Given the description of an element on the screen output the (x, y) to click on. 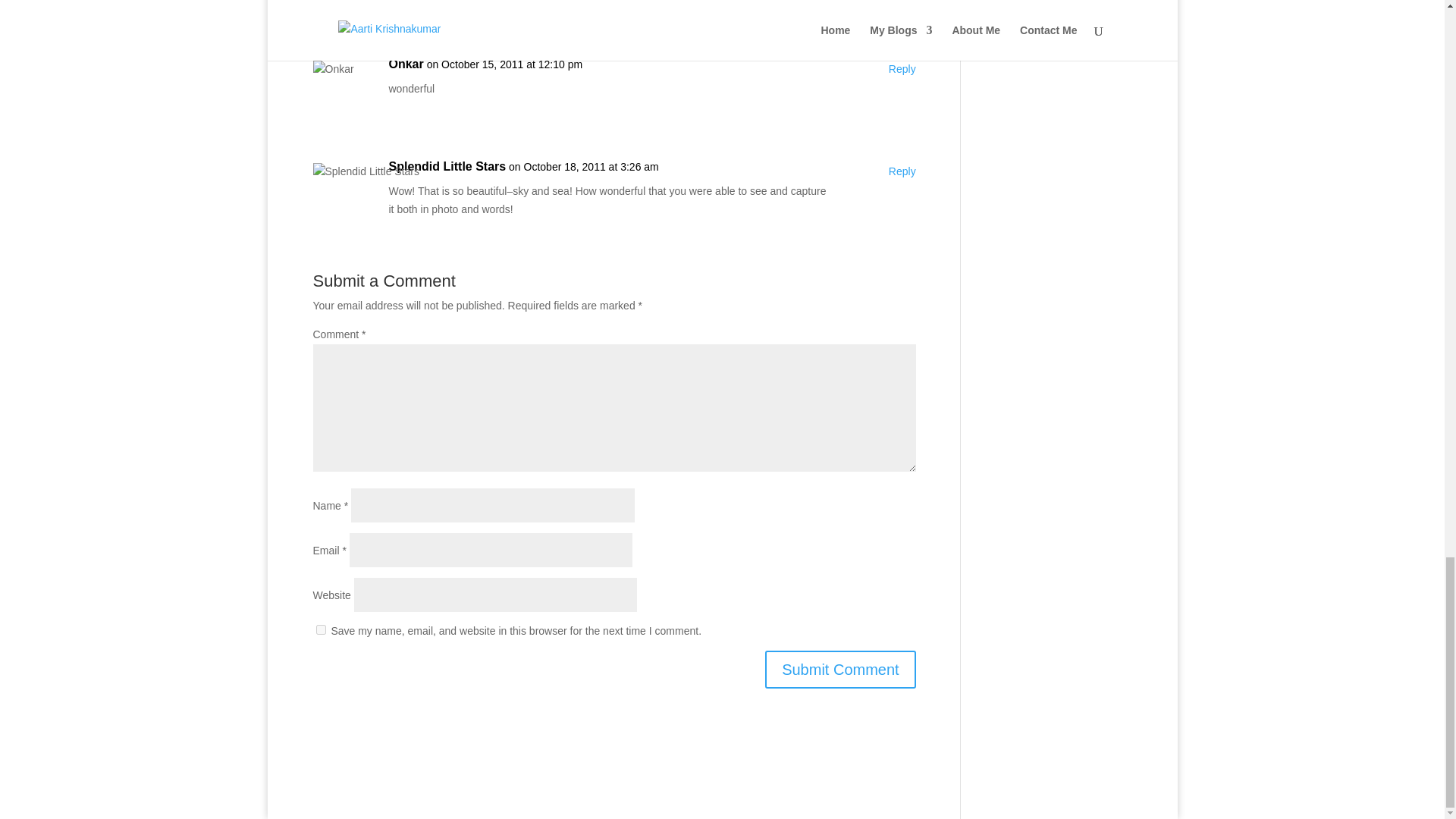
Splendid Little Stars (446, 167)
Submit Comment (840, 669)
Onkar (405, 64)
My Skywatch (418, 9)
yes (319, 629)
Reply (901, 171)
Reply (901, 69)
Submit Comment (840, 669)
